Given the description of an element on the screen output the (x, y) to click on. 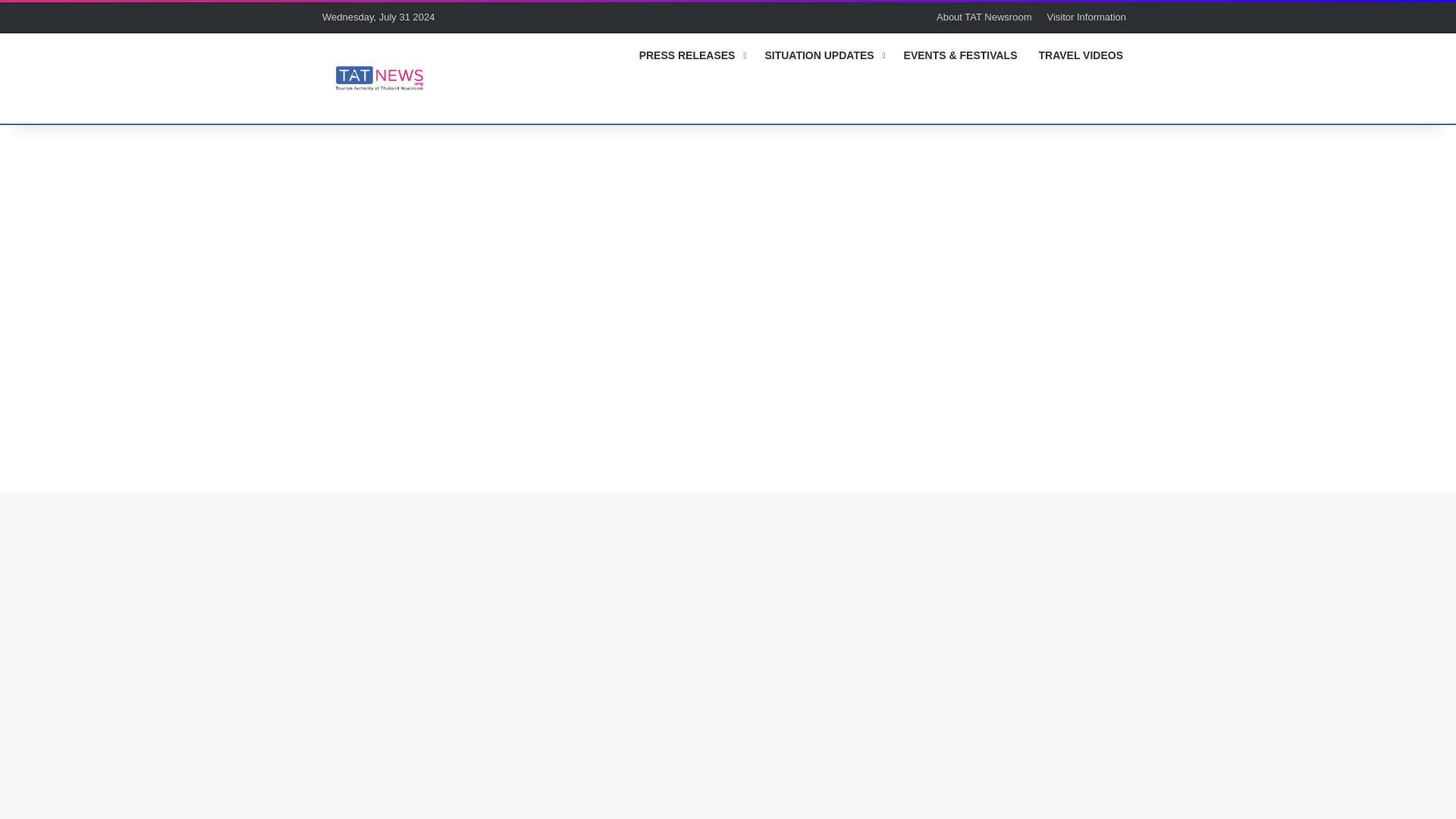
TRAVEL VIDEOS (1080, 54)
TAT Newsroom (378, 77)
Visitor Information (1086, 17)
PRESS RELEASES (691, 54)
SITUATION UPDATES (823, 54)
About TAT Newsroom (983, 17)
